Given the description of an element on the screen output the (x, y) to click on. 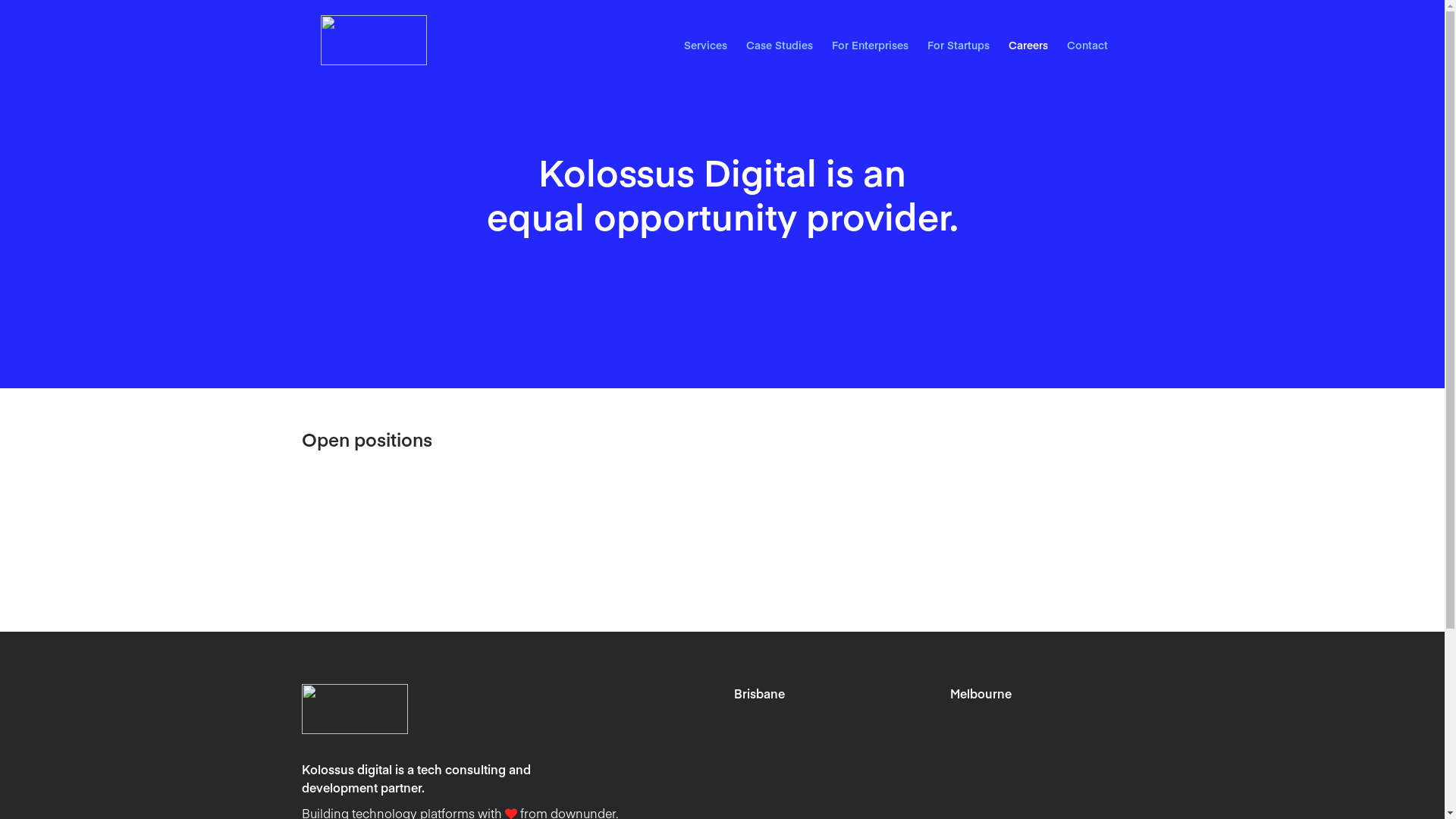
Case Studies Element type: text (779, 44)
Services Element type: text (705, 44)
For Enterprises Element type: text (869, 44)
Contact Element type: text (1086, 44)
Careers Element type: text (1028, 44)
For Startups Element type: text (957, 44)
